Given the description of an element on the screen output the (x, y) to click on. 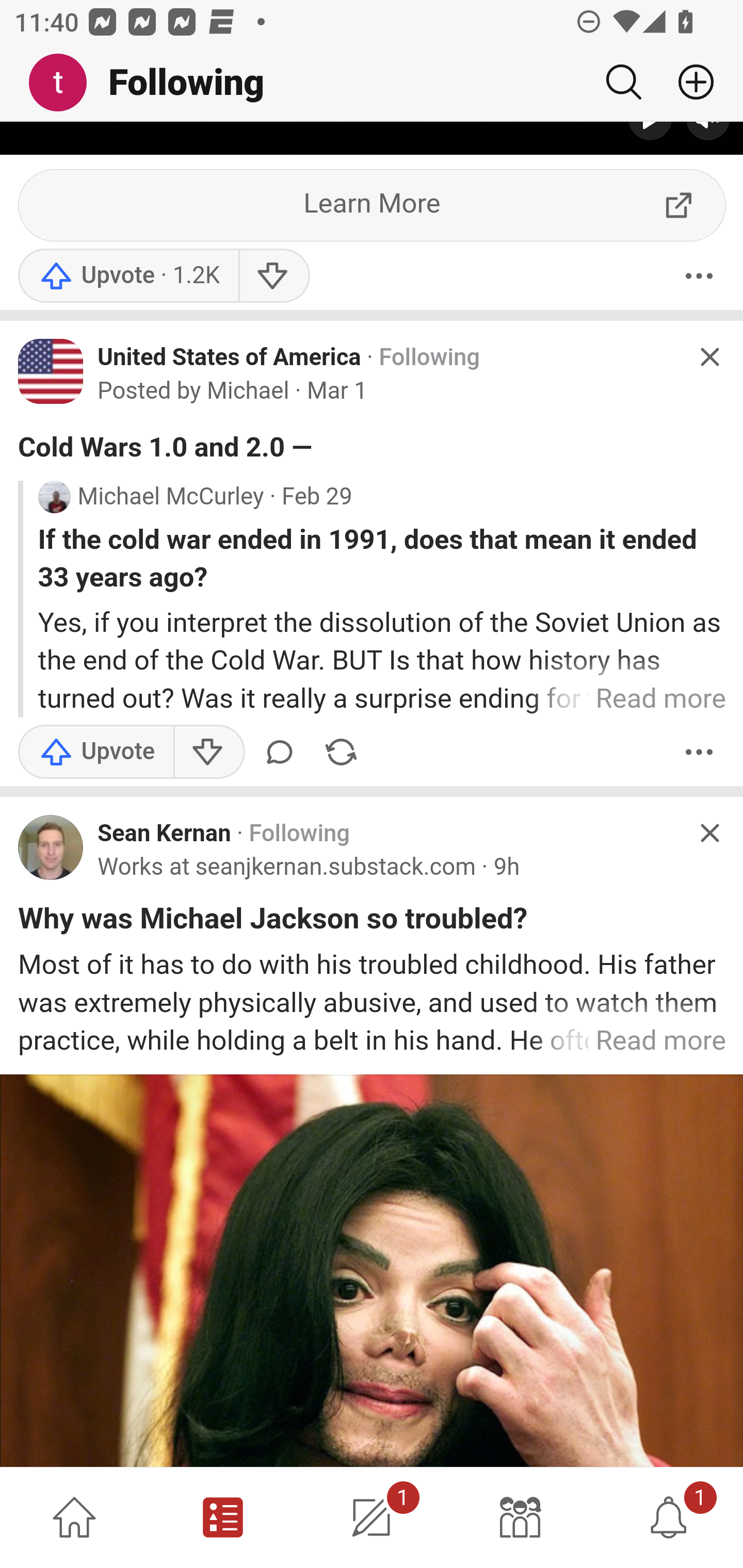
Me (64, 83)
Search (623, 82)
Add (688, 82)
Learn More ExternalLink (372, 207)
Upvote (127, 277)
Downvote (273, 277)
More (699, 277)
Hide (709, 357)
Icon for United States of America (50, 373)
United States of America (229, 358)
Following (428, 358)
Profile photo for Michael McCurley (54, 498)
Upvote (95, 753)
Downvote (208, 753)
Comment (283, 753)
Share (341, 753)
More (699, 753)
Hide (709, 833)
Profile photo for Sean Kernan (50, 848)
Sean Kernan (164, 834)
Following (299, 834)
1 (371, 1517)
1 (668, 1517)
